Given the description of an element on the screen output the (x, y) to click on. 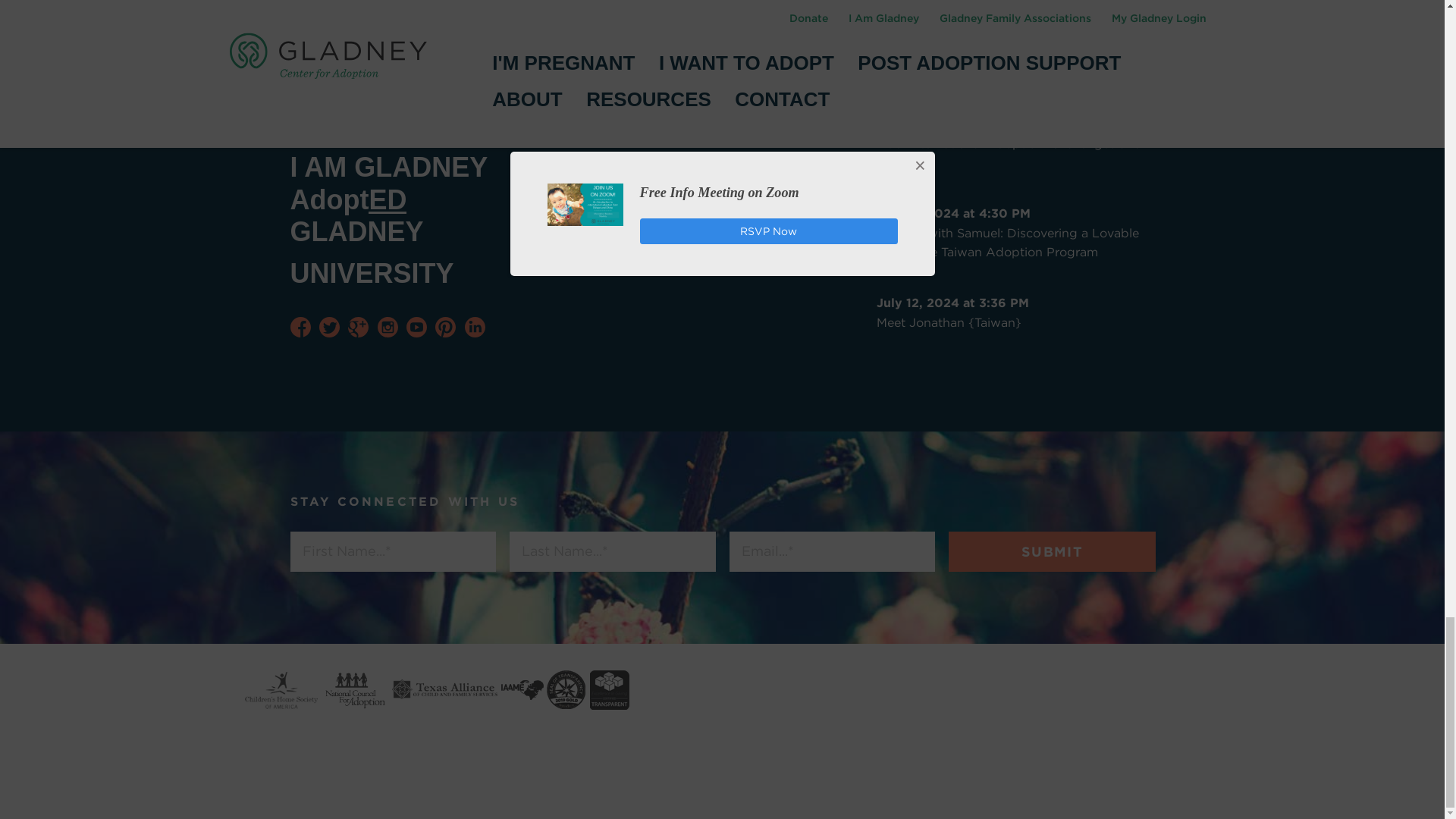
See Us On YouTube (416, 326)
Follow Us On Instagram (387, 326)
Follow Us On Twitter (328, 326)
Like Us On Facebook (299, 326)
See all events... (653, 78)
Submit (1051, 551)
Visit the Childrens Home Society of America website (280, 690)
Join Us On LinkedIn (474, 326)
Visit the National Council for Adoption website (354, 690)
Follow Us On Pinterest (445, 326)
